Given the description of an element on the screen output the (x, y) to click on. 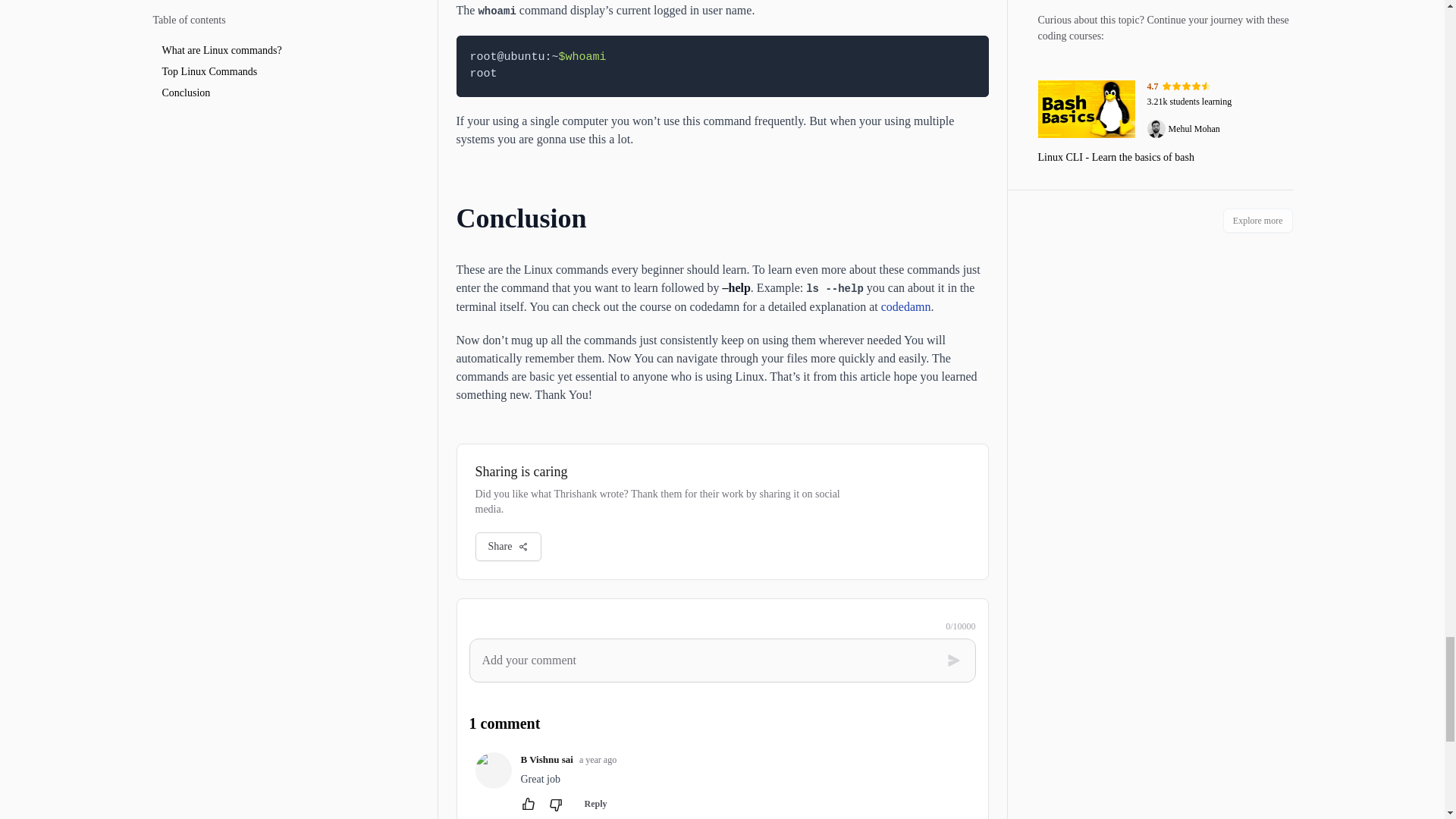
B Vishnu sai (545, 758)
Reply (595, 803)
Share (507, 546)
codedamn (905, 306)
